Given the description of an element on the screen output the (x, y) to click on. 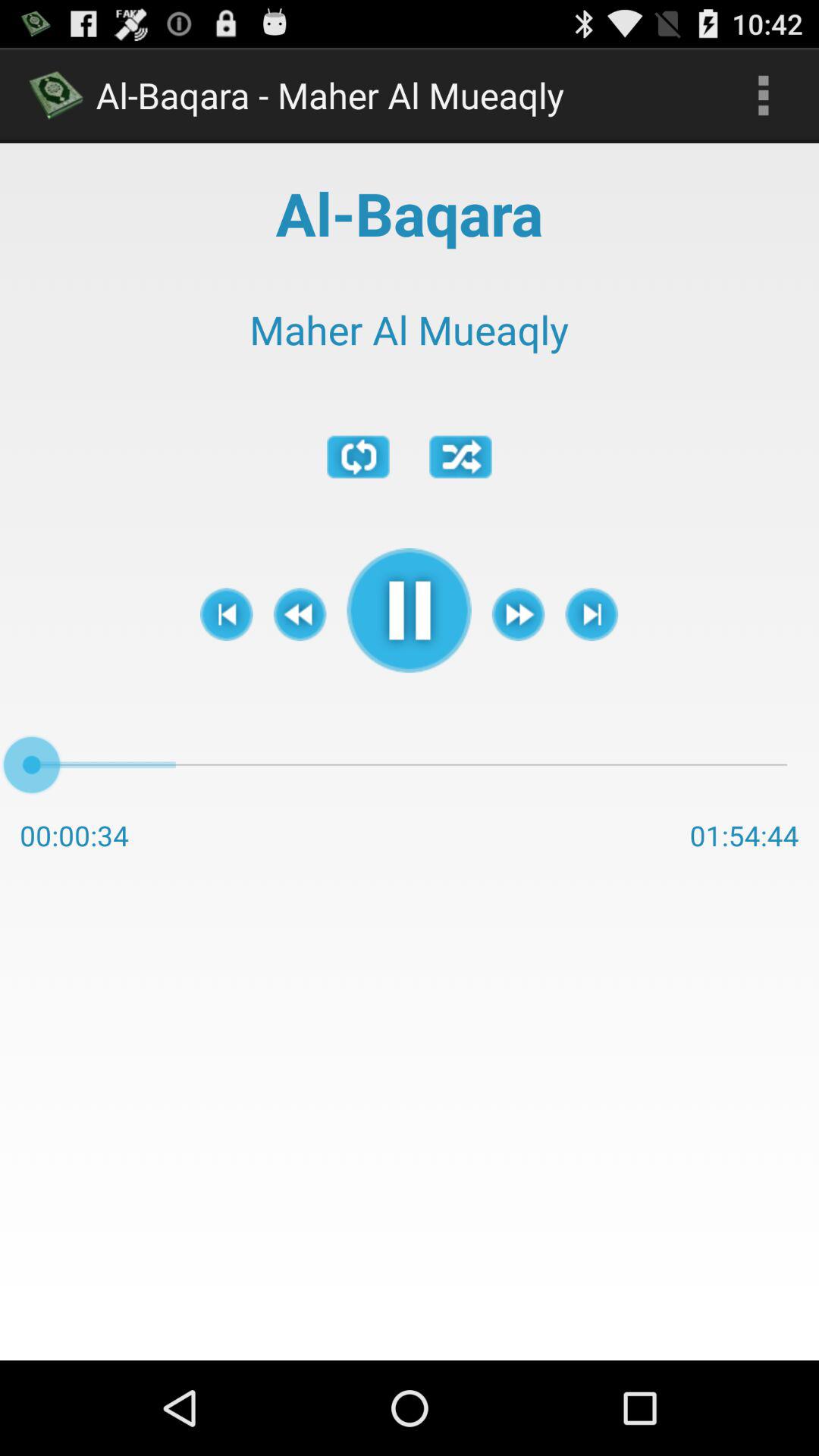
open the item next to al baqara maher app (763, 95)
